Given the description of an element on the screen output the (x, y) to click on. 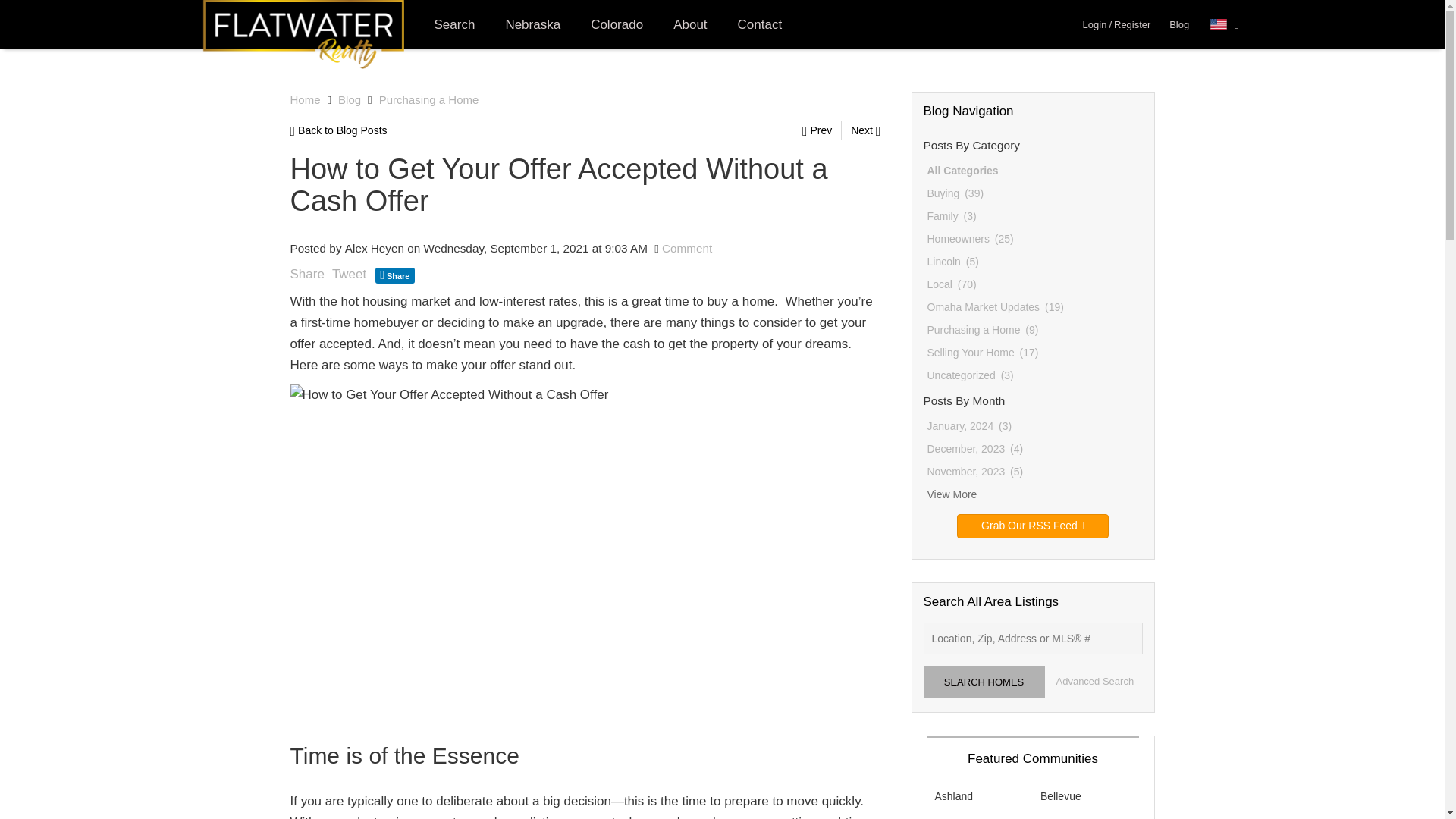
Contact (759, 24)
Nebraska (532, 24)
Colorado (616, 24)
About (690, 24)
Select Language (1224, 24)
Search (454, 24)
